Given the description of an element on the screen output the (x, y) to click on. 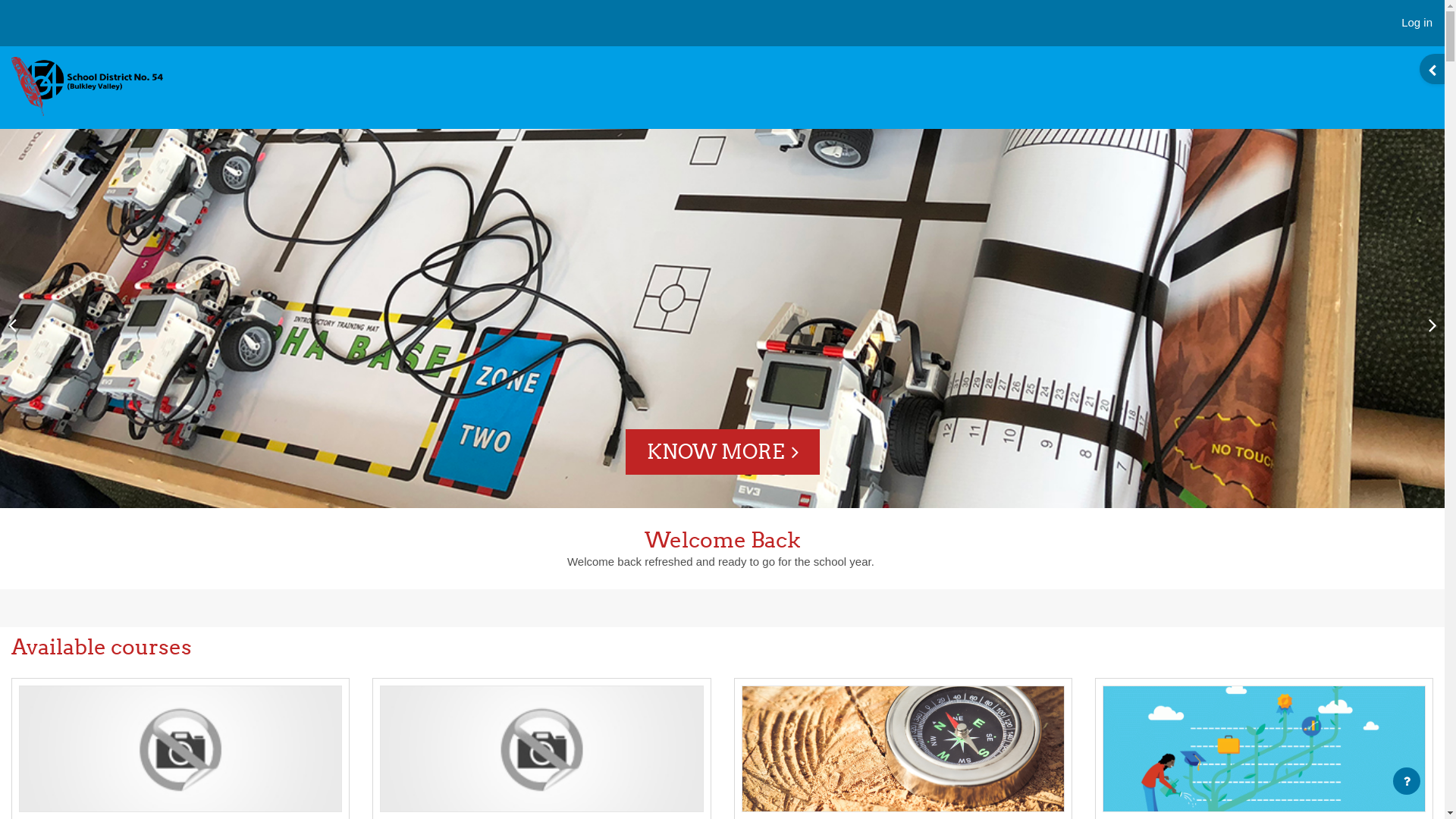
KNOW MORE Element type: text (721, 451)
Log in Element type: text (1416, 22)
OPEN BLOCK DRAWER Element type: text (1431, 68)
